Given the description of an element on the screen output the (x, y) to click on. 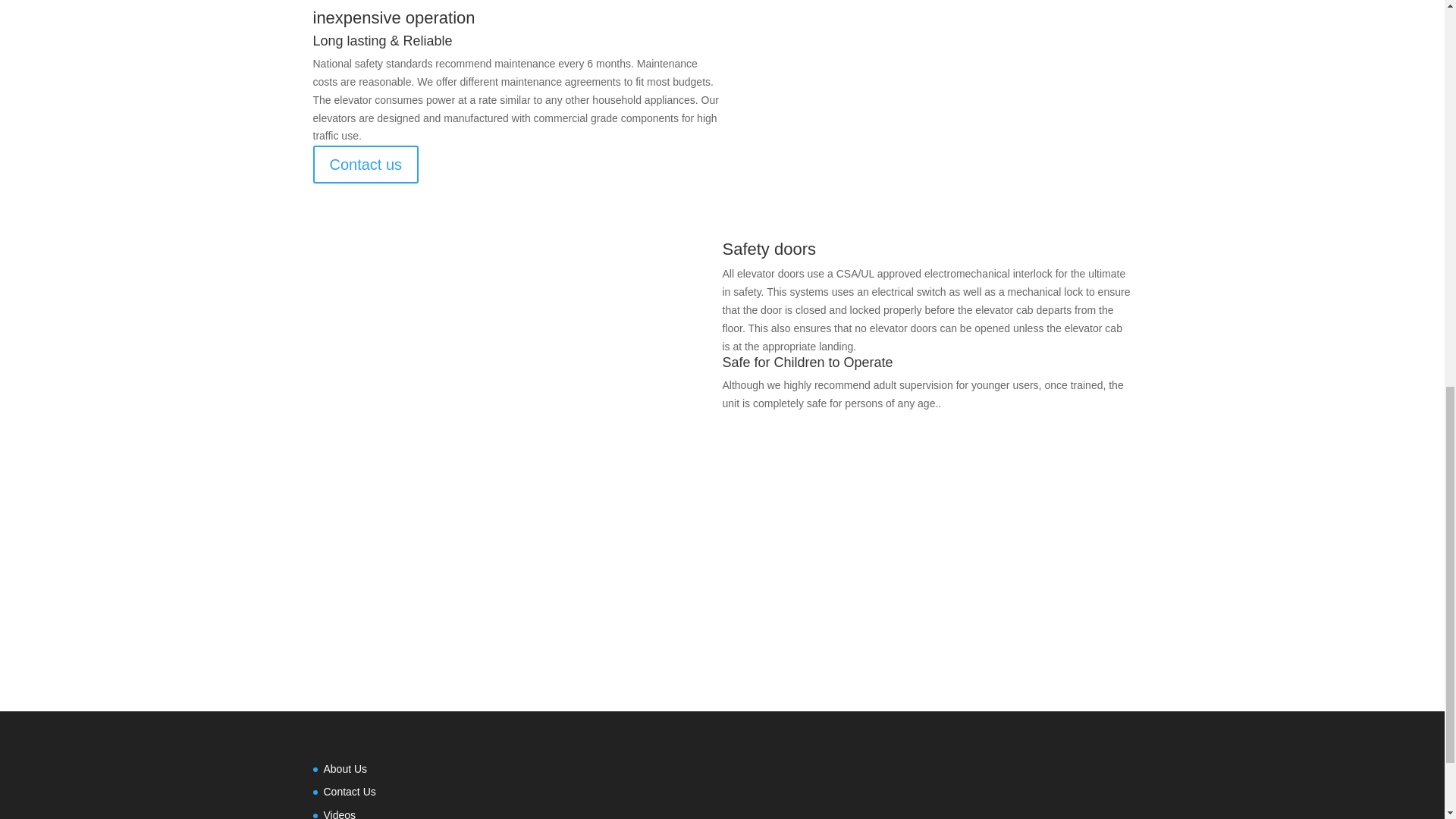
Contact Us (349, 791)
Videos (339, 814)
Citations (722, 605)
About Us (344, 768)
Contact us (366, 164)
